Given the description of an element on the screen output the (x, y) to click on. 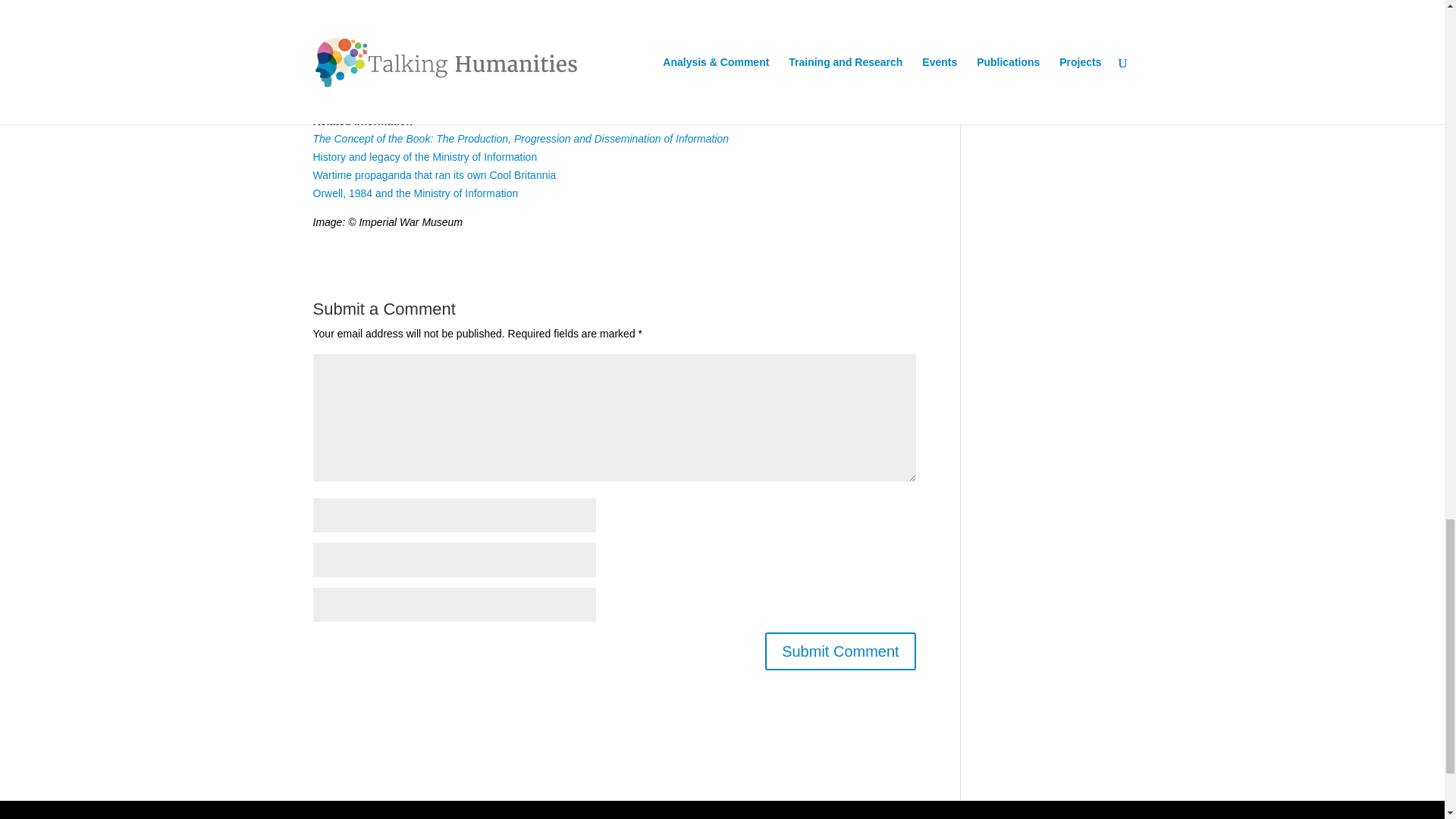
Wartime propaganda that ran its own Cool Britannia (434, 174)
Submit Comment (840, 651)
Orwell, 1984 and the Ministry of Information (415, 193)
Submit Comment (840, 651)
History and legacy of the Ministry of Information (425, 156)
